Given the description of an element on the screen output the (x, y) to click on. 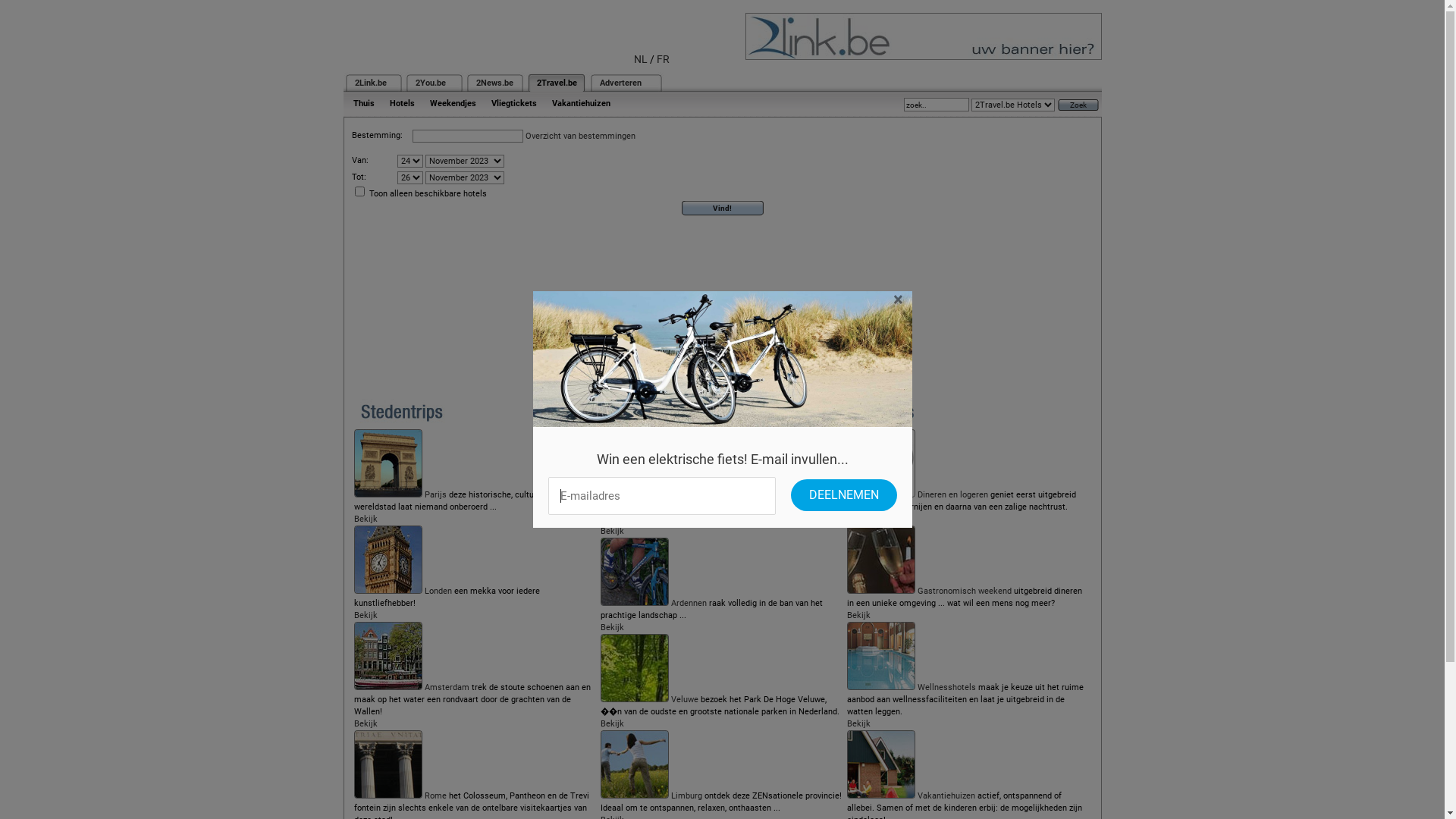
Limburg Element type: text (686, 795)
Bekijk Element type: text (612, 723)
Bekijk Element type: text (364, 615)
Bekijk Element type: text (612, 531)
Gastronomisch weekend Element type: text (964, 591)
Bekijk Element type: text (858, 615)
Bekijk Element type: text (364, 519)
2Link.be Element type: text (370, 82)
Vind! Element type: text (722, 207)
Hotels Element type: text (402, 103)
Amsterdam Element type: text (446, 687)
Veluwe Element type: text (684, 699)
2You.be Element type: text (430, 82)
Vakantiehuizen Element type: text (946, 795)
Bekijk Element type: text (612, 627)
Nederlandse kust Element type: text (704, 494)
Rome Element type: text (435, 795)
Adverteren Element type: text (619, 82)
Bekijk Element type: text (858, 723)
NL Element type: text (640, 59)
2News.be Element type: text (494, 82)
Vakantiehuizen Element type: text (581, 103)
Thuis Element type: text (363, 103)
Ardennen Element type: text (688, 603)
Zoek Element type: text (1077, 103)
Dineren en logeren Element type: text (952, 494)
Londen Element type: text (437, 591)
Bekijk Element type: text (858, 519)
Wellnesshotels Element type: text (946, 687)
Overzicht van bestemmingen Element type: text (579, 136)
Vliegtickets Element type: text (513, 103)
2Travel.be Element type: text (556, 82)
Parijs Element type: text (435, 494)
Weekendjes Element type: text (452, 103)
Bekijk Element type: text (364, 723)
FR Element type: text (662, 59)
